Given the description of an element on the screen output the (x, y) to click on. 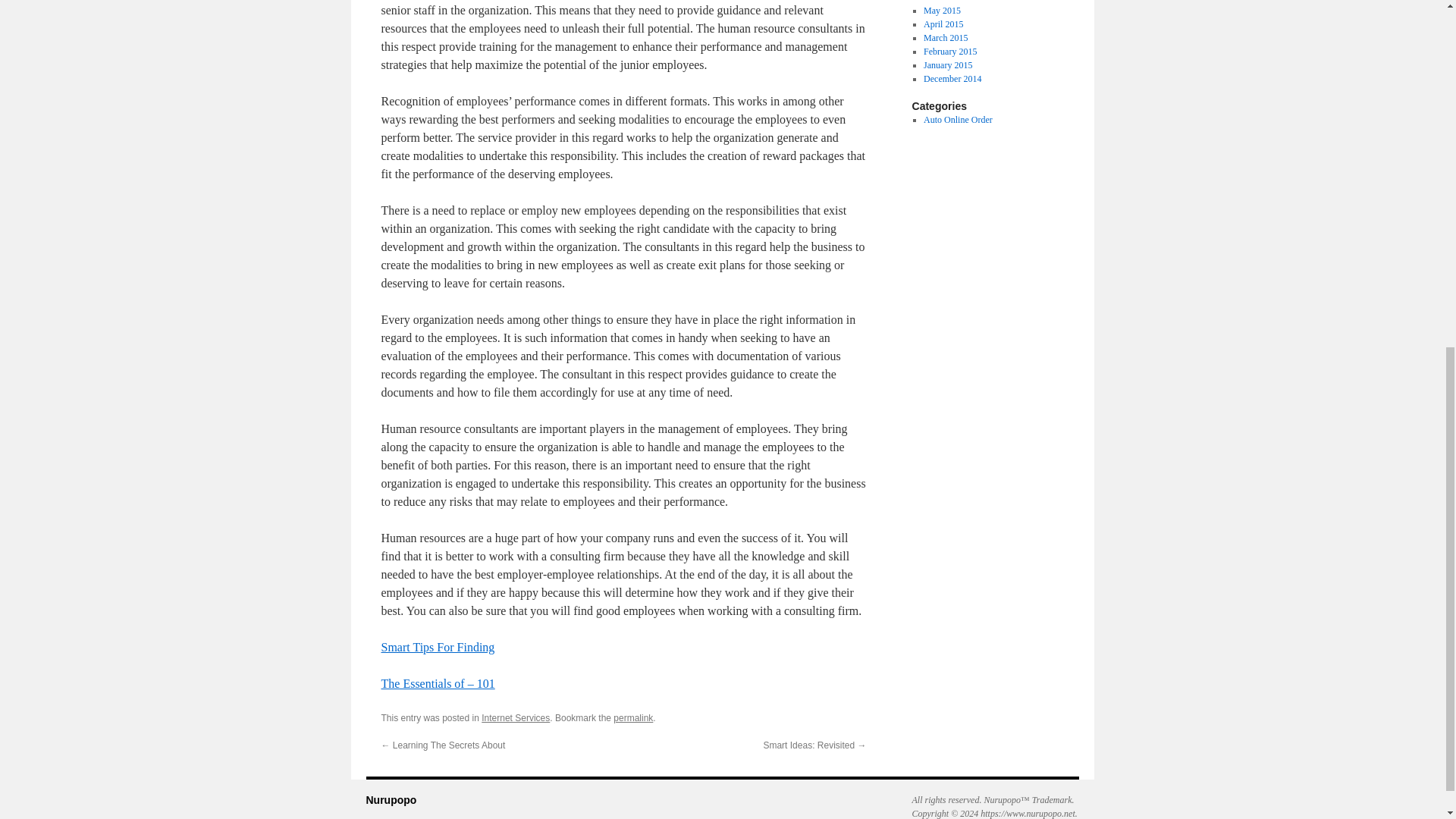
February 2015 (949, 50)
June 2015 (941, 1)
Nurupopo (390, 799)
April 2015 (942, 23)
March 2015 (945, 37)
May 2015 (941, 9)
permalink (632, 717)
December 2014 (952, 78)
Auto Online Order (957, 119)
January 2015 (947, 64)
Smart Tips For Finding (437, 646)
Permalink to Finding Ways To Keep Up With (632, 717)
Internet Services (515, 717)
